Given the description of an element on the screen output the (x, y) to click on. 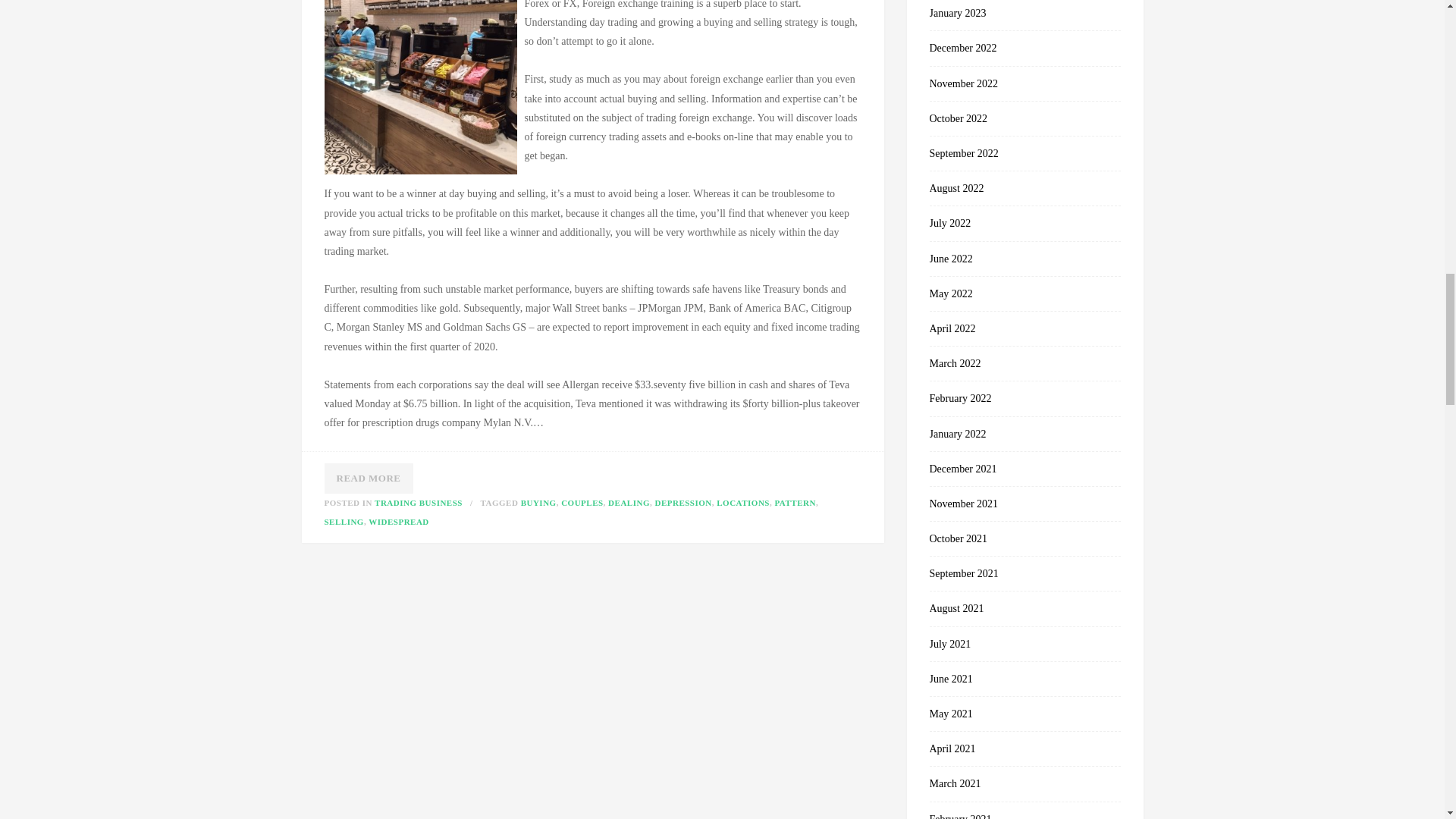
WIDESPREAD (398, 521)
DEALING (628, 501)
READ MORE (368, 478)
DEPRESSION (682, 501)
TRADING BUSINESS (418, 501)
PATTERN (794, 501)
BUYING (538, 501)
LOCATIONS (743, 501)
SELLING (344, 521)
COUPLES (581, 501)
